Given the description of an element on the screen output the (x, y) to click on. 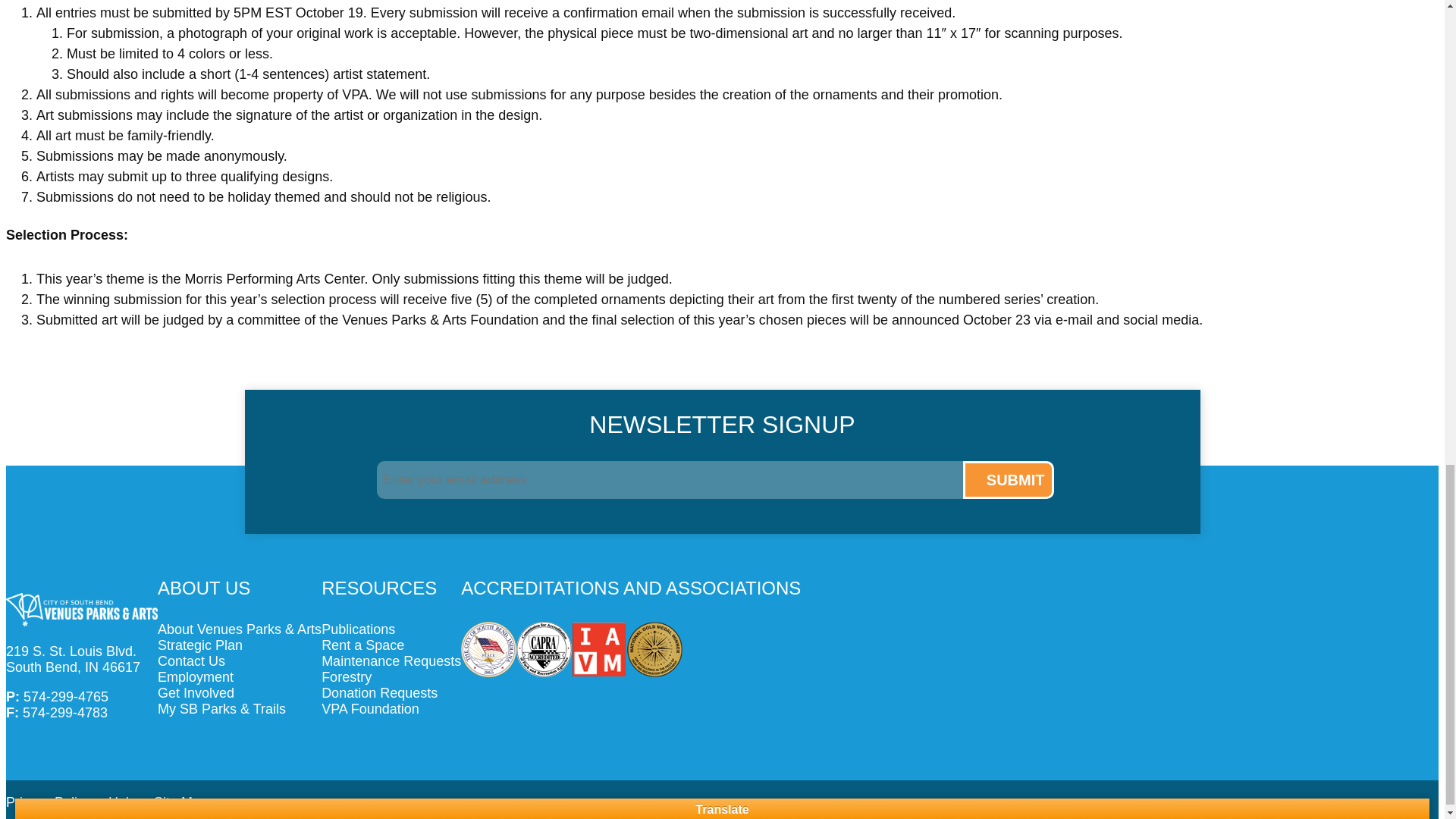
Rent a Space (391, 645)
Publications (391, 629)
Privacy Policy (47, 802)
VPA Foundation (391, 709)
Strategic Plan (239, 645)
Employment (239, 677)
Donation Requests (391, 693)
Site Map (181, 802)
Submit (1008, 479)
Contact Us (239, 661)
Help (121, 802)
Forestry (391, 677)
Get Involved (239, 693)
Submit (1008, 479)
Maintenance Requests (391, 661)
